Given the description of an element on the screen output the (x, y) to click on. 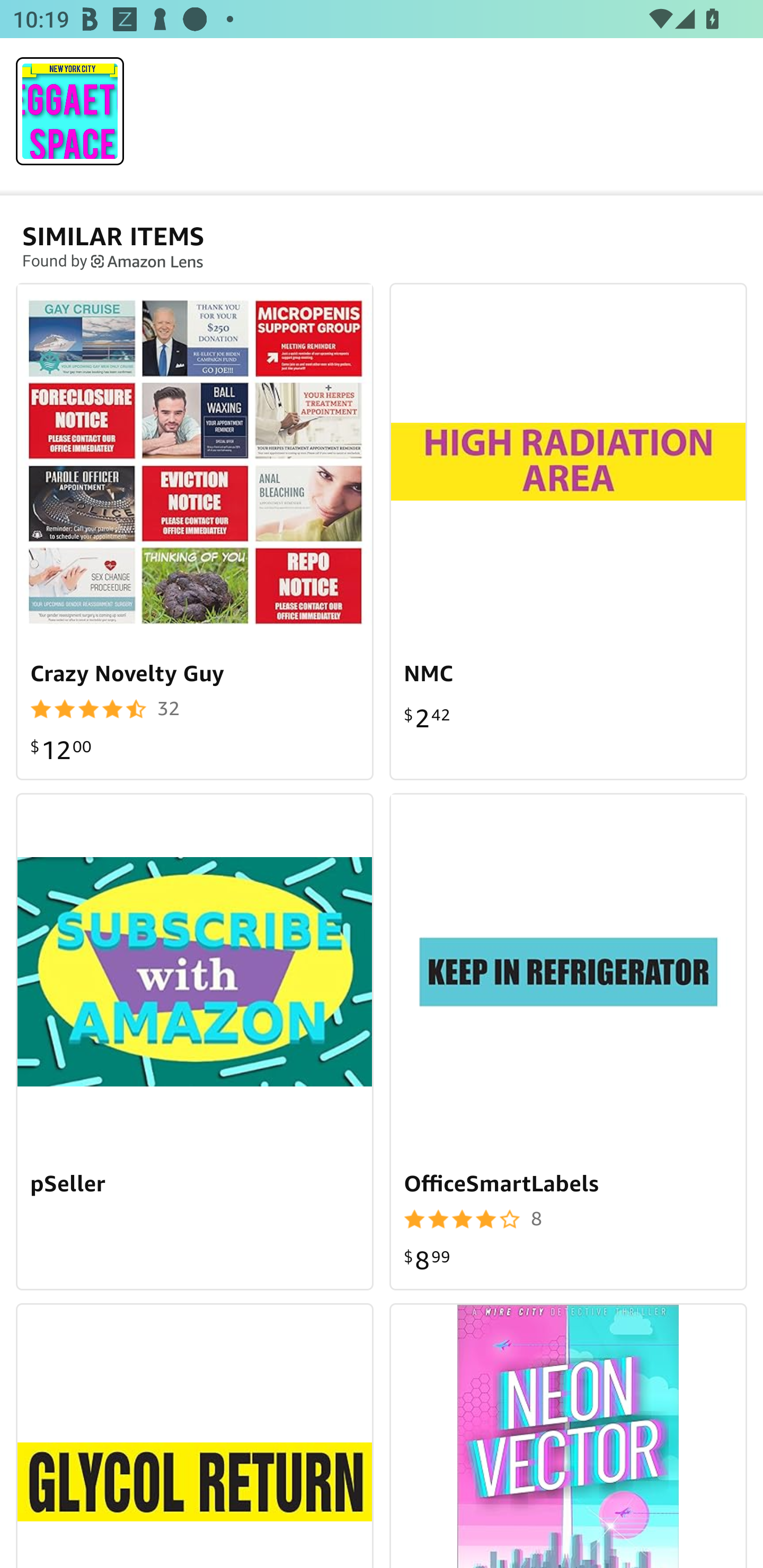
Crazy Novelty Guy 32 $ 12 00 (194, 531)
NMC $ 2 42 (567, 531)
pSeller (194, 1041)
OfficeSmartLabels 8 $ 8 99 (567, 1041)
